Given the description of an element on the screen output the (x, y) to click on. 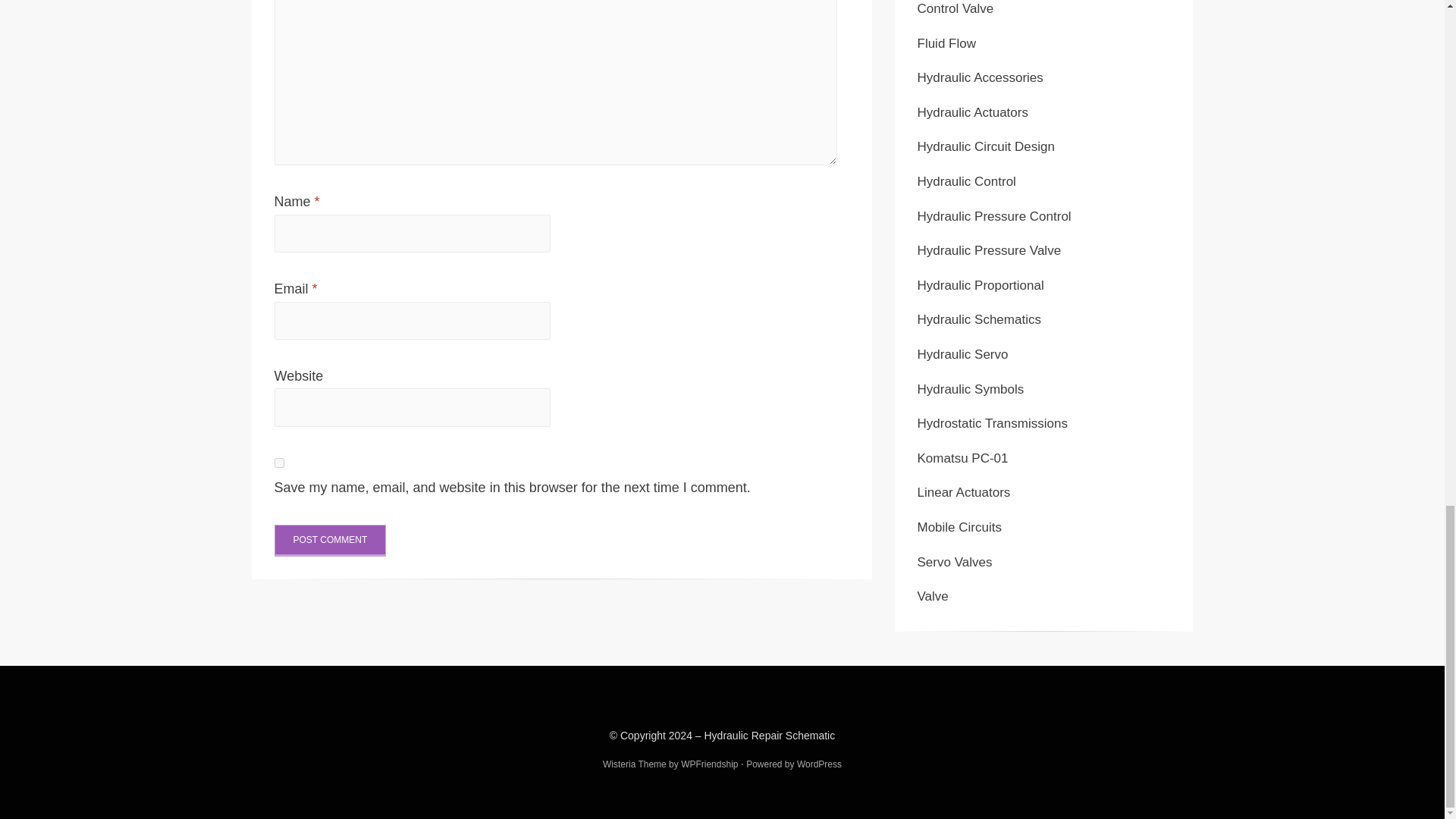
WordPress (818, 764)
Post Comment (331, 540)
Hydraulic Servo (963, 354)
Hydraulic Actuators (972, 112)
Hydraulic Proportional (980, 285)
yes (279, 462)
Hydraulic Accessories (980, 77)
Fluid Flow (946, 43)
Control Valve (955, 8)
Hydraulic Control (966, 181)
Hydraulic Circuit Design (985, 146)
Hydraulic Schematics (979, 319)
Hydraulic Pressure Valve (989, 250)
Post Comment (331, 540)
Hydraulic Pressure Control (994, 216)
